Given the description of an element on the screen output the (x, y) to click on. 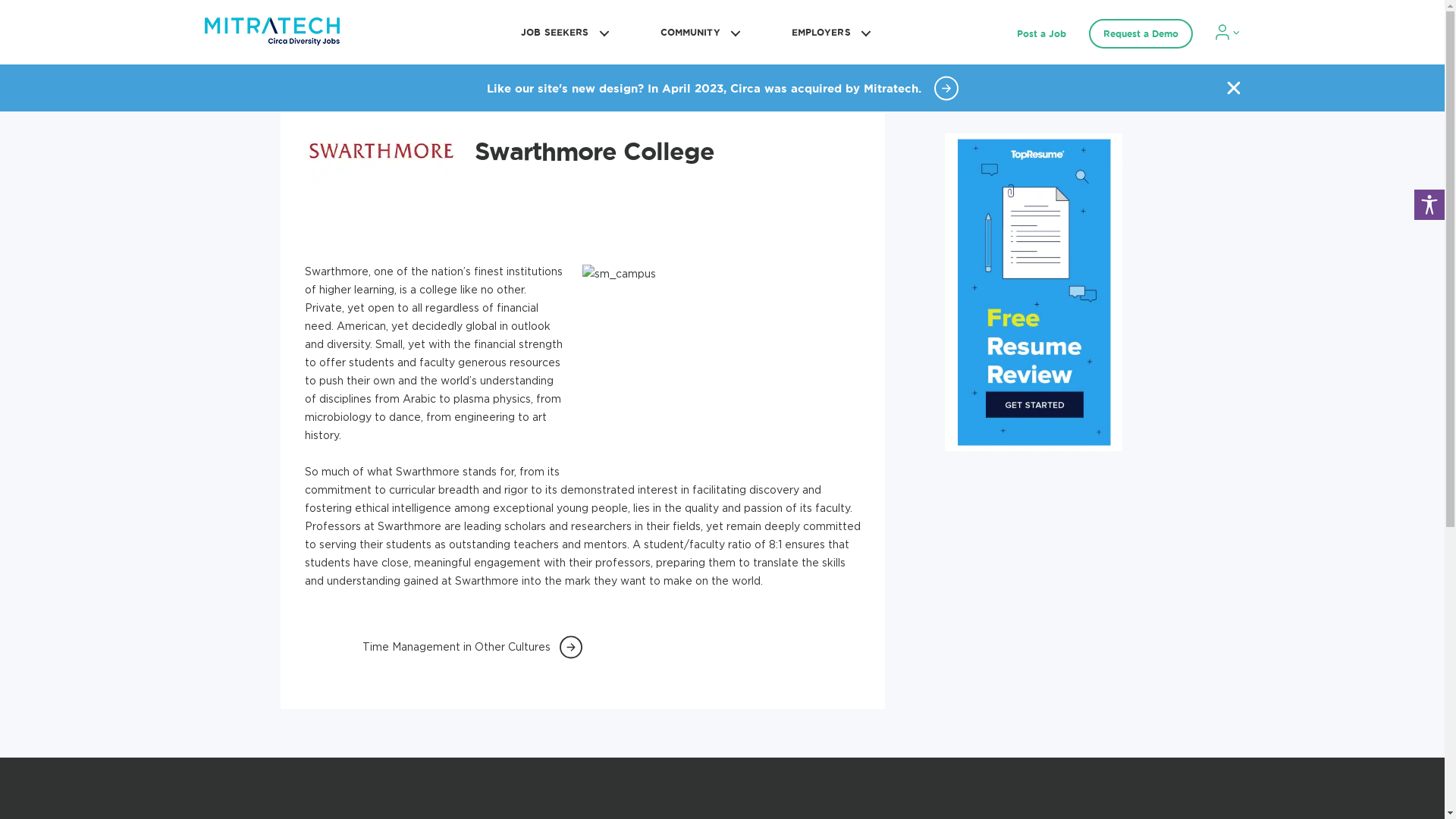
COMMUNITY (698, 31)
EMPLOYERS (829, 31)
JOB SEEKERS (562, 31)
